Given the description of an element on the screen output the (x, y) to click on. 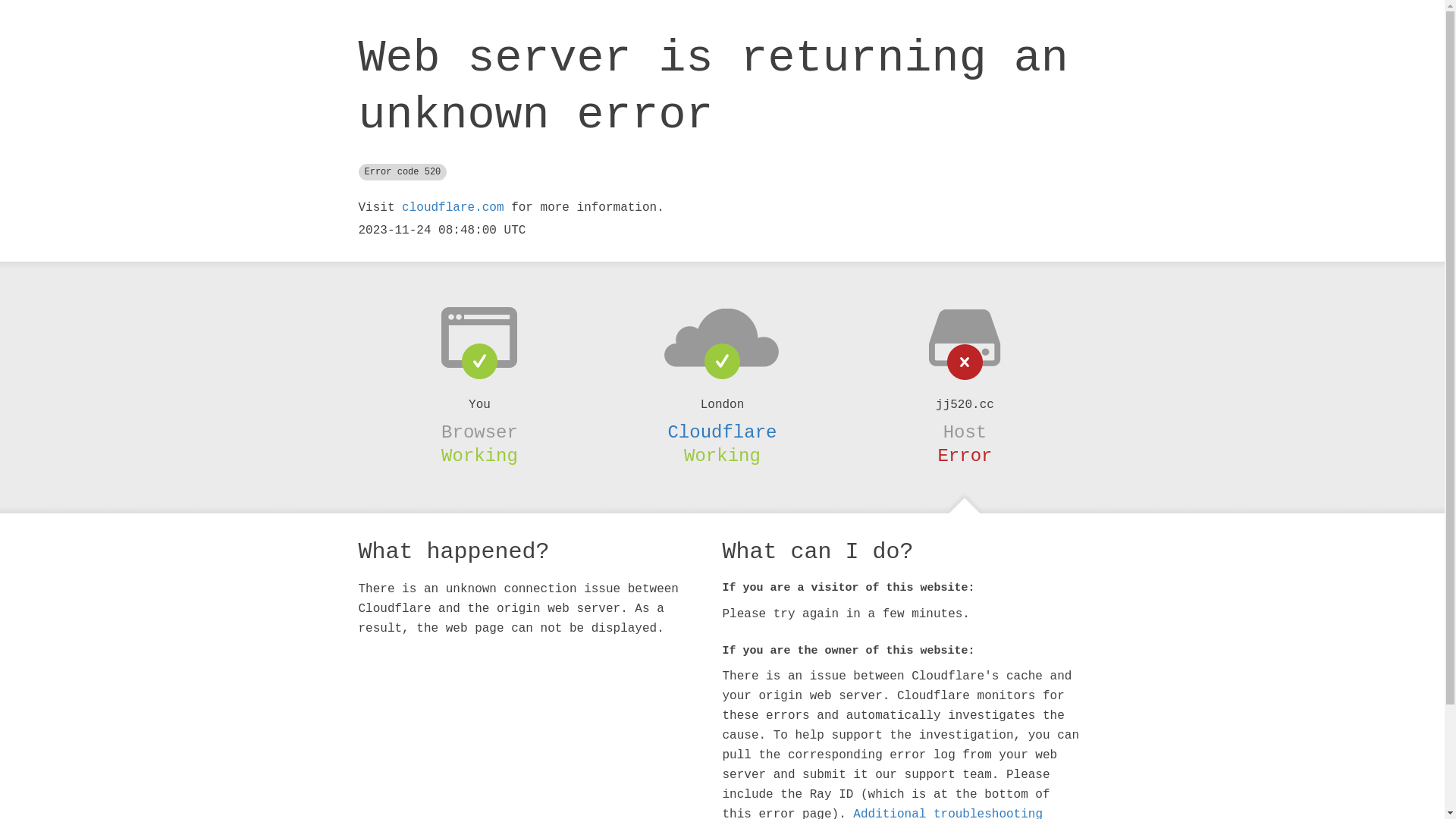
cloudflare.com Element type: text (452, 207)
Cloudflare Element type: text (721, 432)
